Given the description of an element on the screen output the (x, y) to click on. 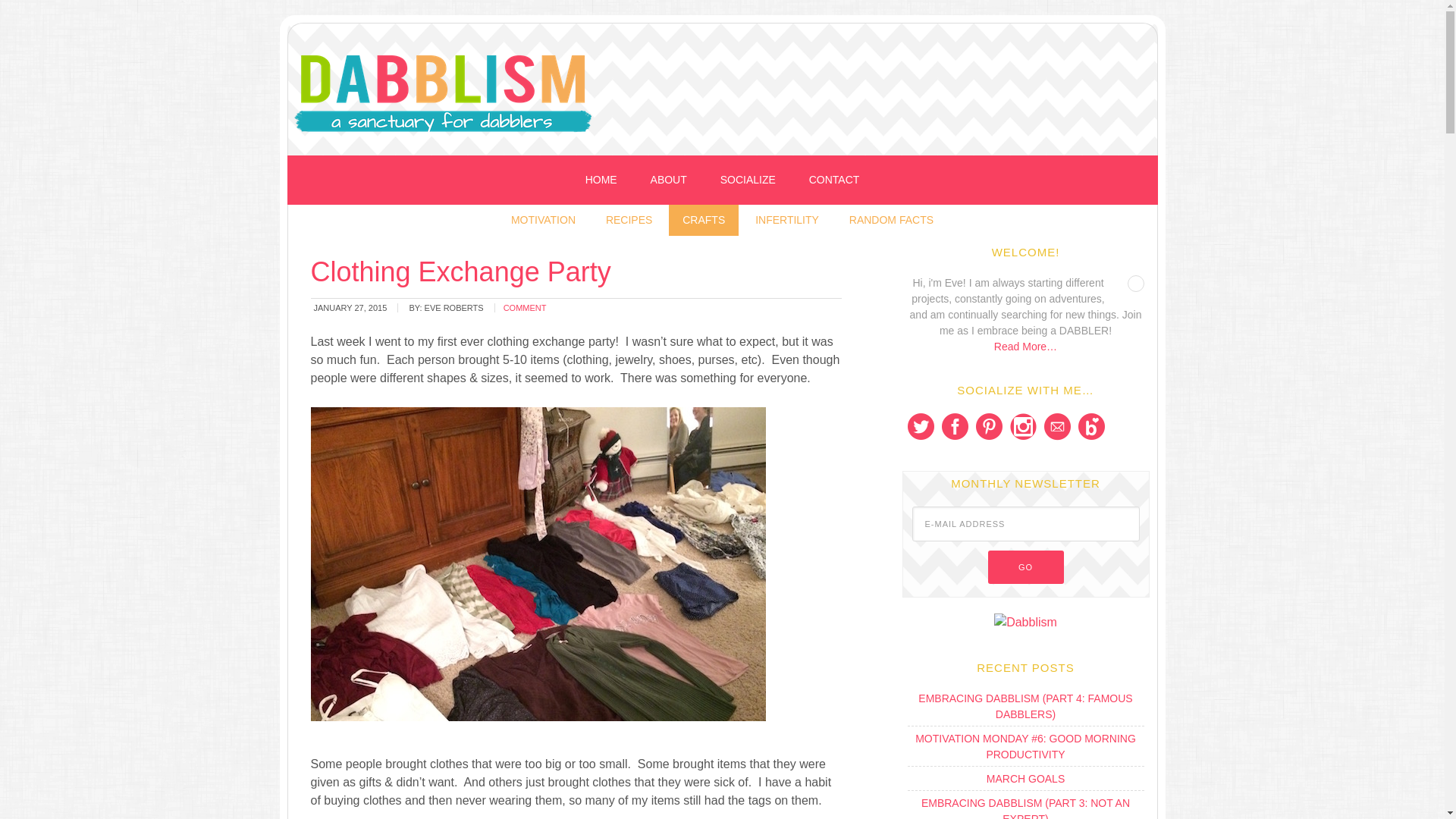
CRAFTS (703, 219)
RECIPES (628, 219)
COMMENT (525, 307)
HOME (600, 179)
Go (1024, 566)
MOTIVATION (543, 219)
ABOUT (667, 179)
INFERTILITY (786, 219)
RANDOM FACTS (891, 219)
Clothing Exchange Party (461, 271)
MARCH GOALS (1025, 778)
SOCIALIZE (747, 179)
CONTACT (834, 179)
Dabblism (737, 93)
Go (1024, 566)
